Given the description of an element on the screen output the (x, y) to click on. 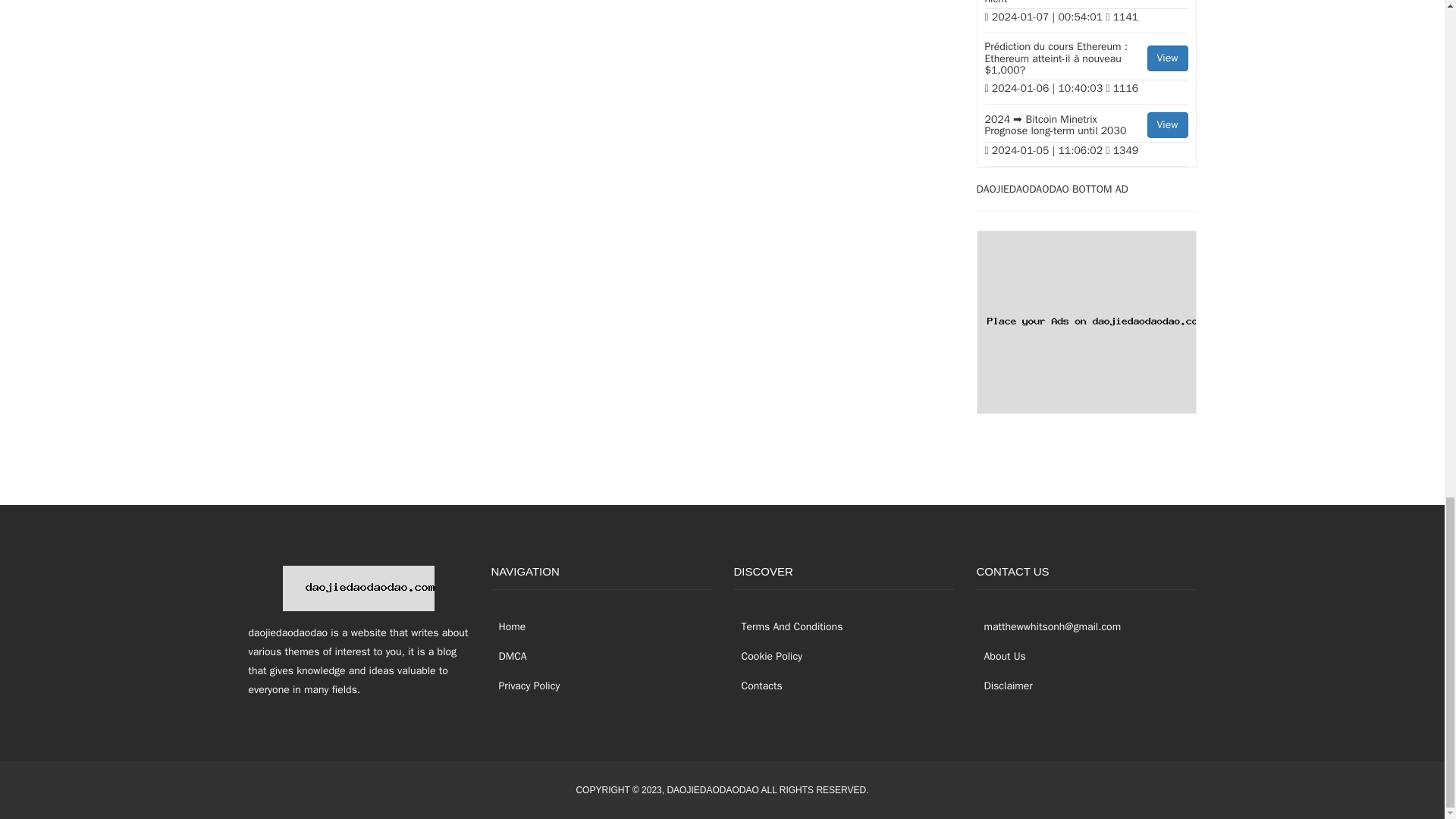
DAOJIEDAODAODAO (712, 789)
Privacy Policy (526, 685)
DMCA (509, 656)
Home (508, 626)
View (1167, 58)
View (1167, 125)
Contacts (758, 685)
Terms And Conditions (788, 626)
Disclaimer (1004, 685)
Cookie Policy (768, 656)
